Given the description of an element on the screen output the (x, y) to click on. 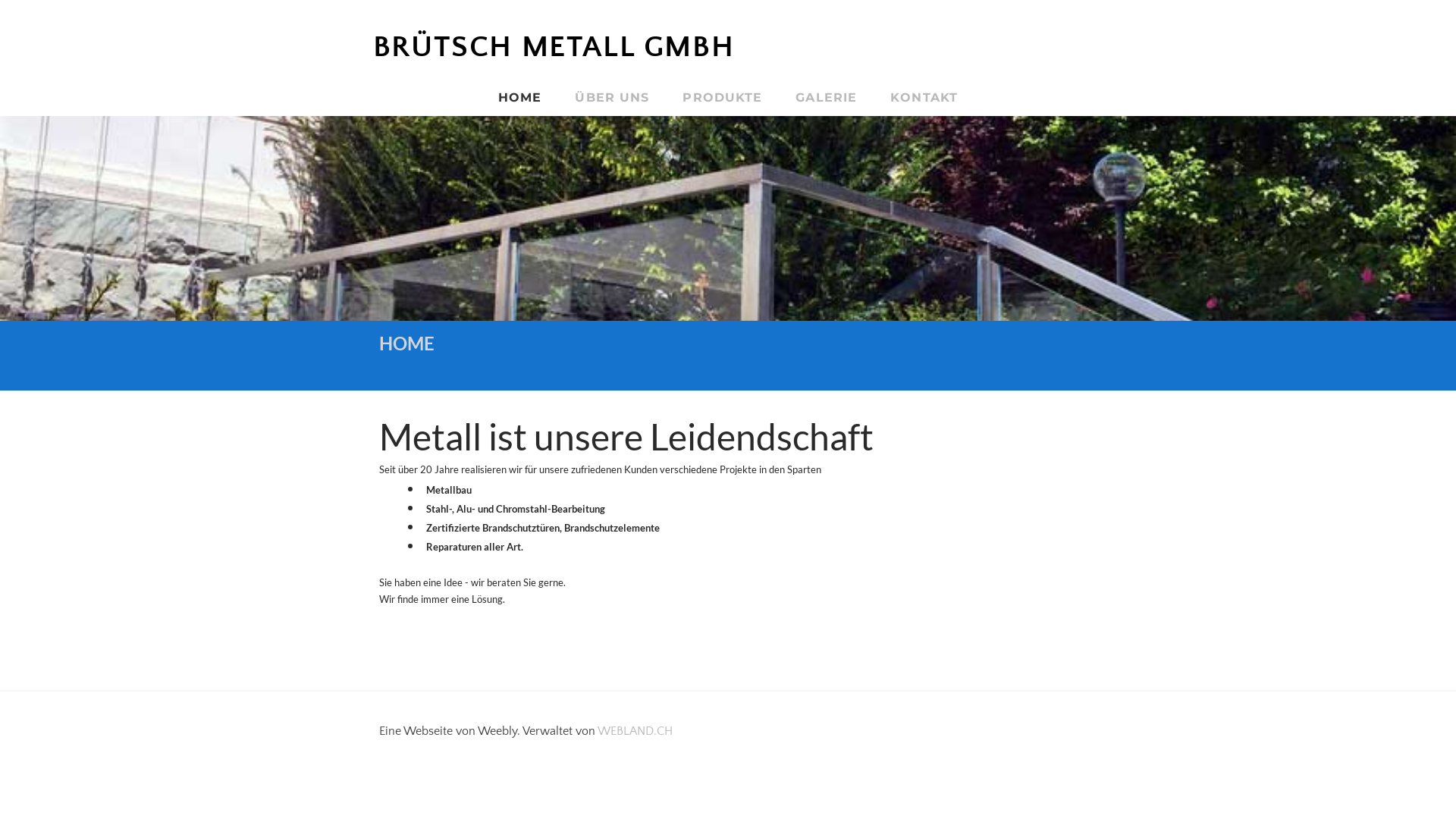
GALERIE Element type: text (826, 97)
PRODUKTE Element type: text (722, 97)
KONTAKT Element type: text (923, 97)
WEBLAND.CH Element type: text (634, 730)
HOME Element type: text (519, 97)
